Given the description of an element on the screen output the (x, y) to click on. 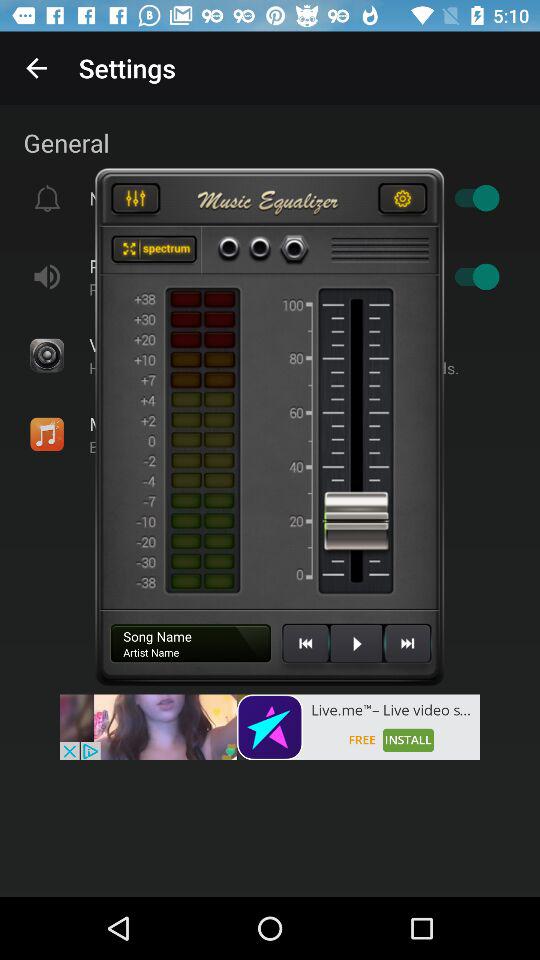
click for settings (402, 201)
